Given the description of an element on the screen output the (x, y) to click on. 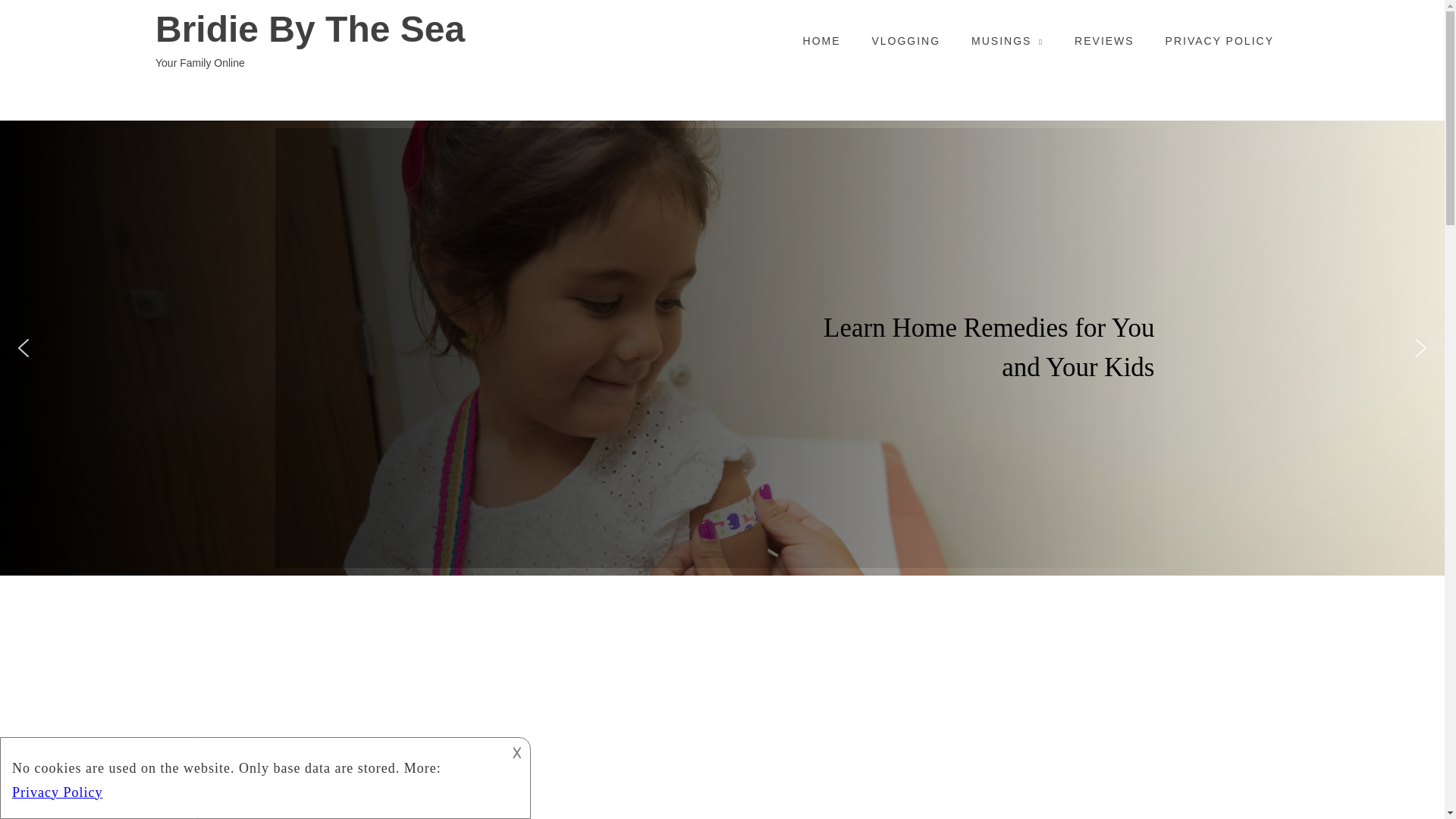
Bridie By The Sea (373, 29)
MUSINGS (1007, 41)
HOME (822, 41)
description (252, 775)
REVIEWS (1104, 41)
PRIVACY POLICY (1220, 41)
VLOGGING (905, 41)
